Given the description of an element on the screen output the (x, y) to click on. 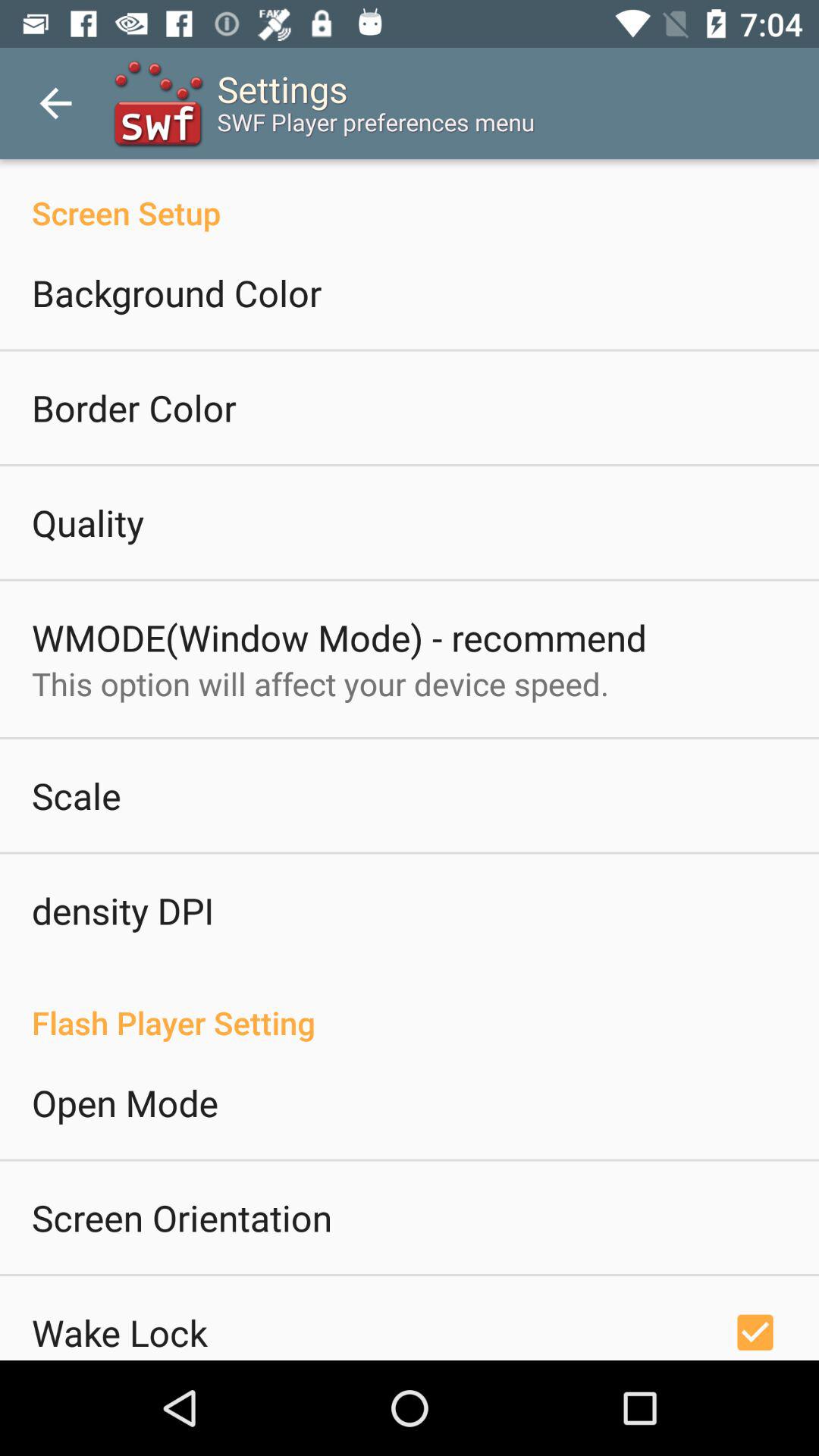
press icon below screen setup (176, 292)
